Given the description of an element on the screen output the (x, y) to click on. 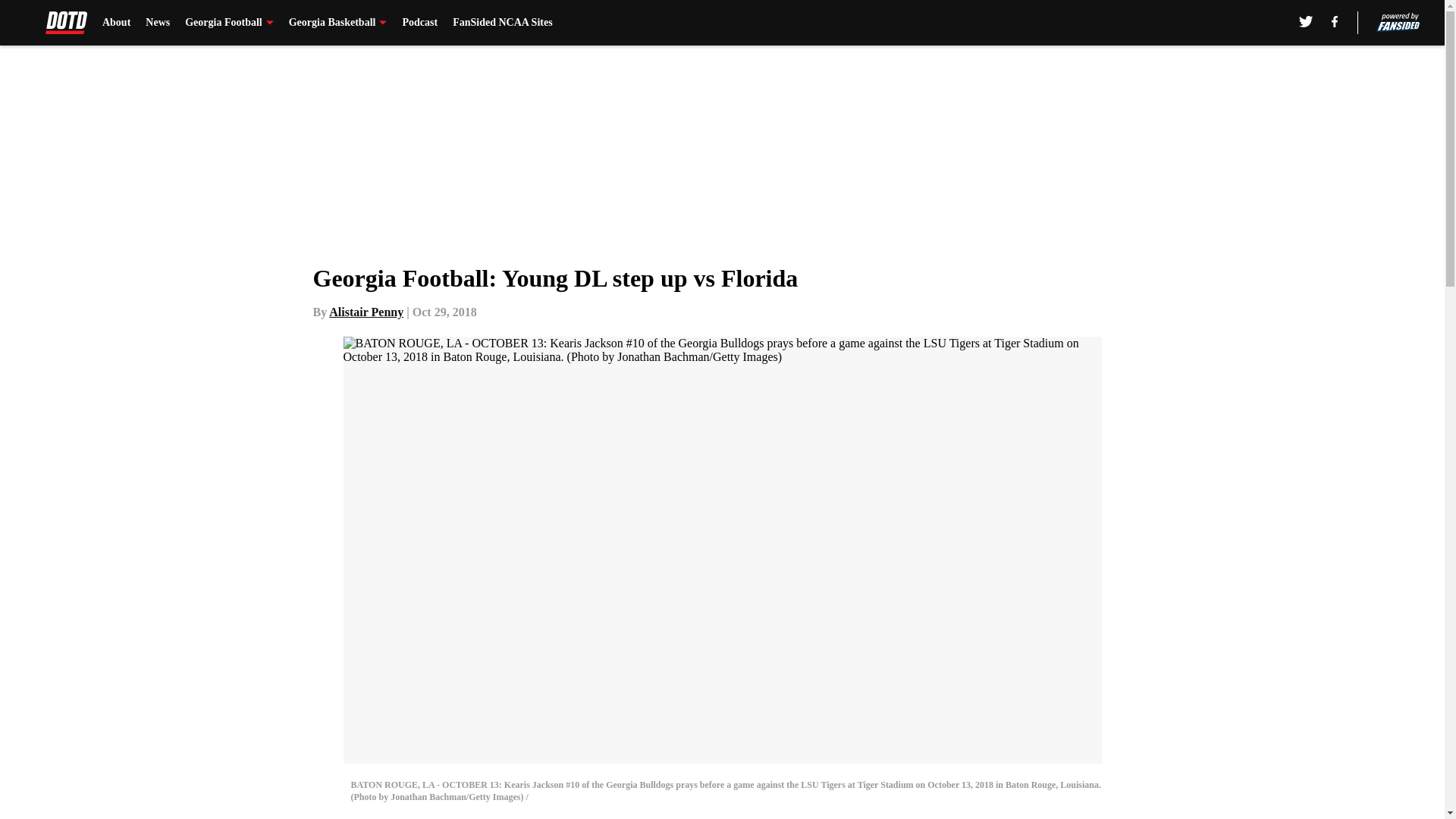
FanSided NCAA Sites (501, 22)
Alistair Penny (366, 311)
Podcast (419, 22)
News (157, 22)
About (116, 22)
